Given the description of an element on the screen output the (x, y) to click on. 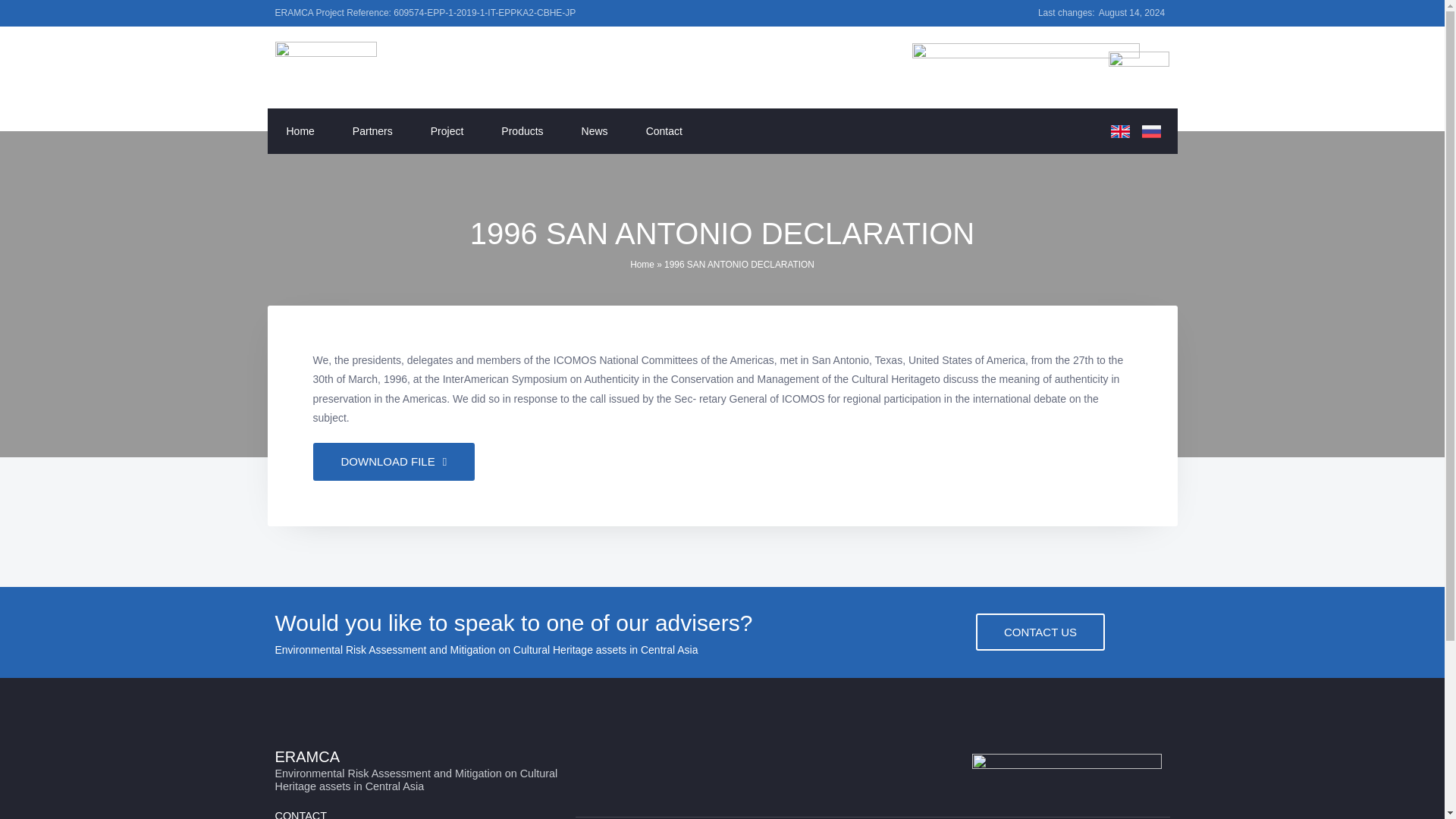
Contact (664, 130)
Partners (372, 130)
News (594, 130)
Products (521, 130)
Home (299, 130)
Project (447, 130)
